Given the description of an element on the screen output the (x, y) to click on. 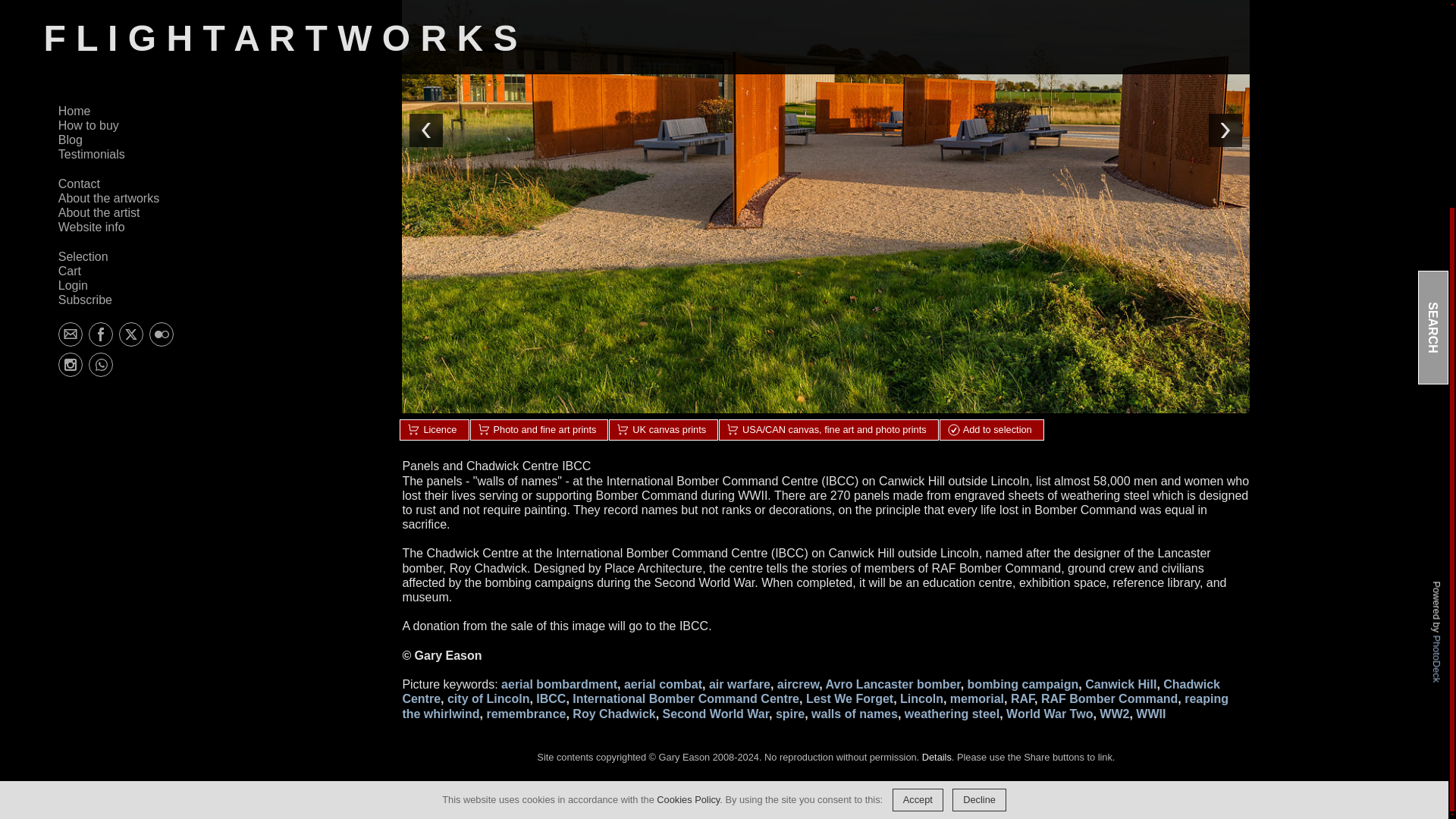
Add to selection (991, 430)
UK canvas prints (662, 430)
Photo and fine art prints (538, 430)
Licence (433, 430)
Photo and fine art prints (538, 430)
Cart (69, 2)
Licence (433, 430)
Login (72, 12)
Subscribe (85, 27)
Add to selection (991, 430)
